Given the description of an element on the screen output the (x, y) to click on. 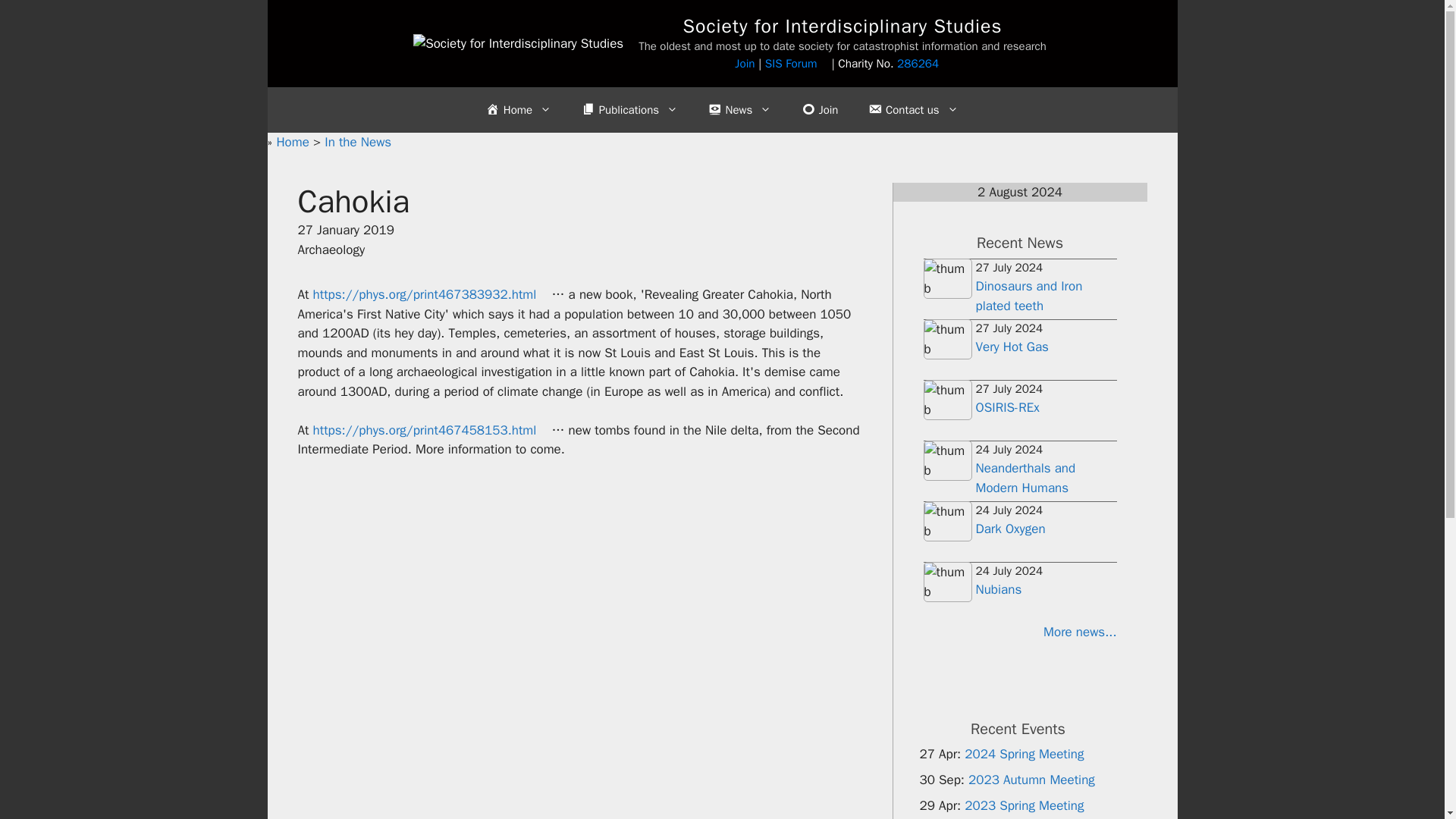
More news... (1019, 632)
Join (819, 109)
286264 (923, 63)
Dark Oxygen (1010, 528)
Home (518, 109)
Dinosaurs and Iron plated teeth (1028, 295)
In the News (357, 141)
Contact us (912, 109)
Join (744, 63)
Publications (629, 109)
2024 Spring Meeting (1023, 754)
Nubians (998, 589)
News (739, 109)
Very Hot Gas (1011, 346)
OSIRIS-REx (1007, 407)
